Given the description of an element on the screen output the (x, y) to click on. 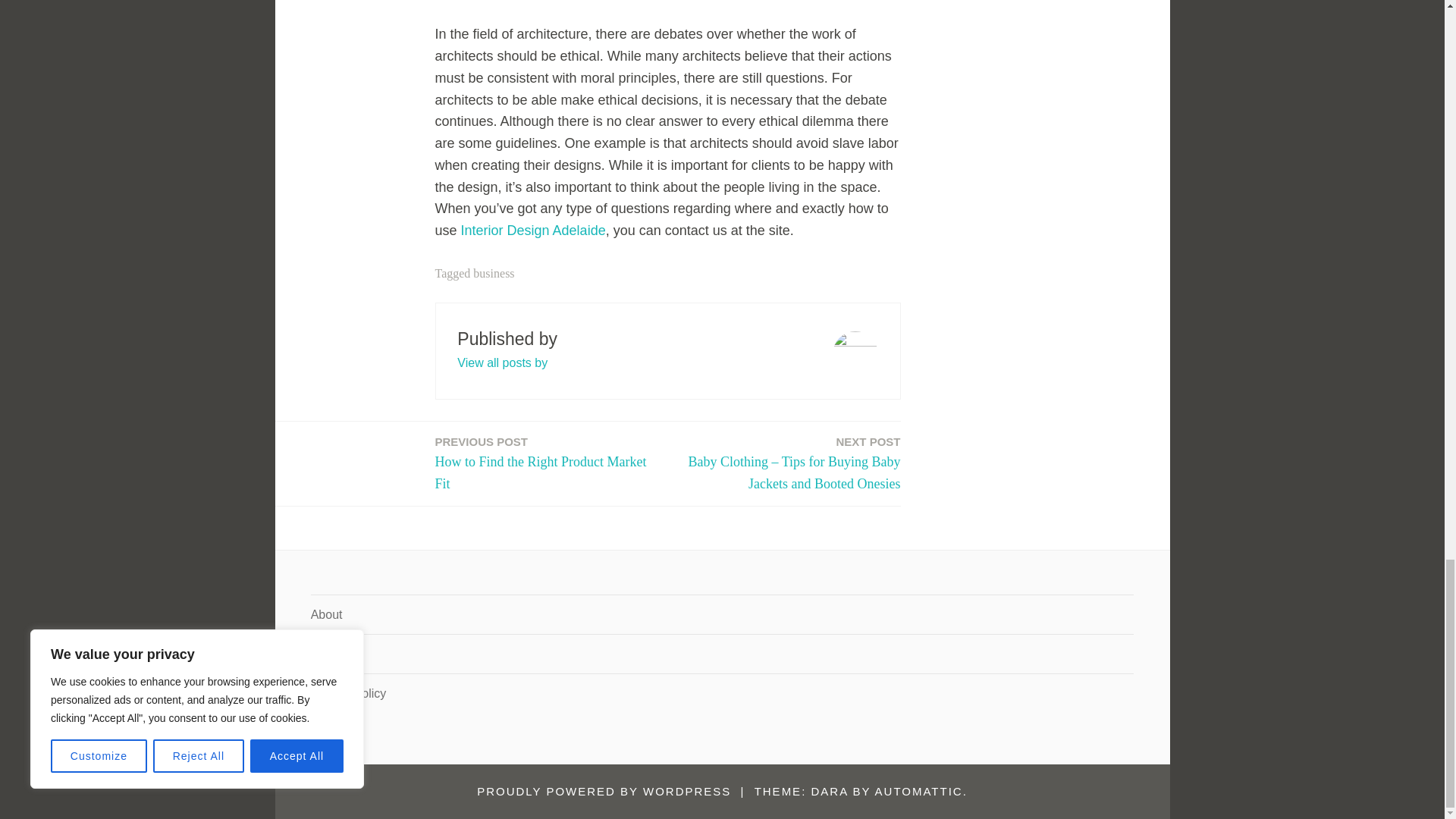
Interior Design Adelaide (533, 230)
View all posts by (547, 464)
business (502, 362)
